Given the description of an element on the screen output the (x, y) to click on. 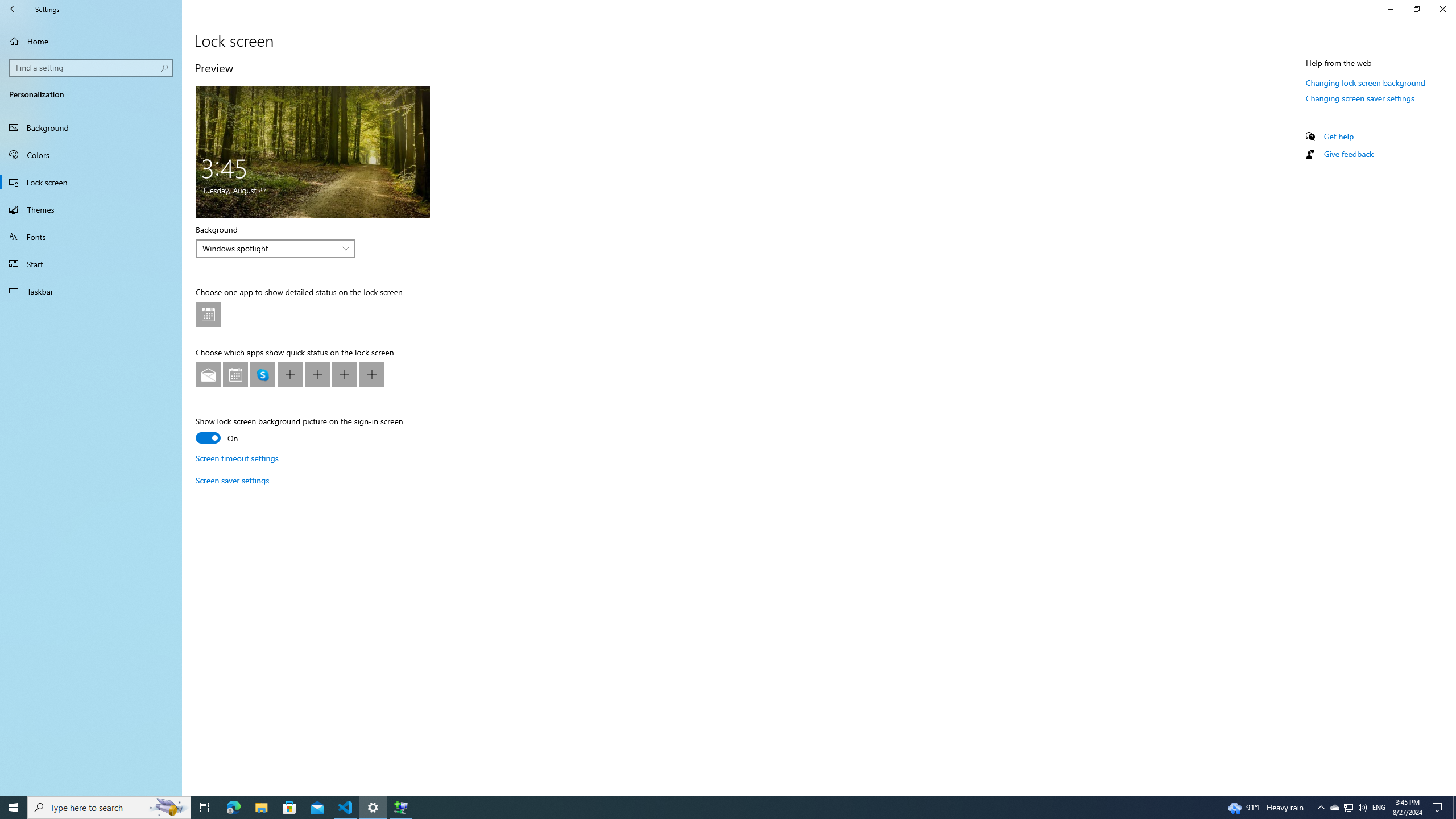
Lock screen app quick status at position 7 (371, 374)
Fonts (91, 236)
Give feedback (1348, 153)
Search box, Find a setting (91, 67)
Lock screen app quick status at position 1 (208, 374)
None (371, 374)
Colors (91, 154)
Extensible Wizards Host Process - 1 running window (400, 807)
